Given the description of an element on the screen output the (x, y) to click on. 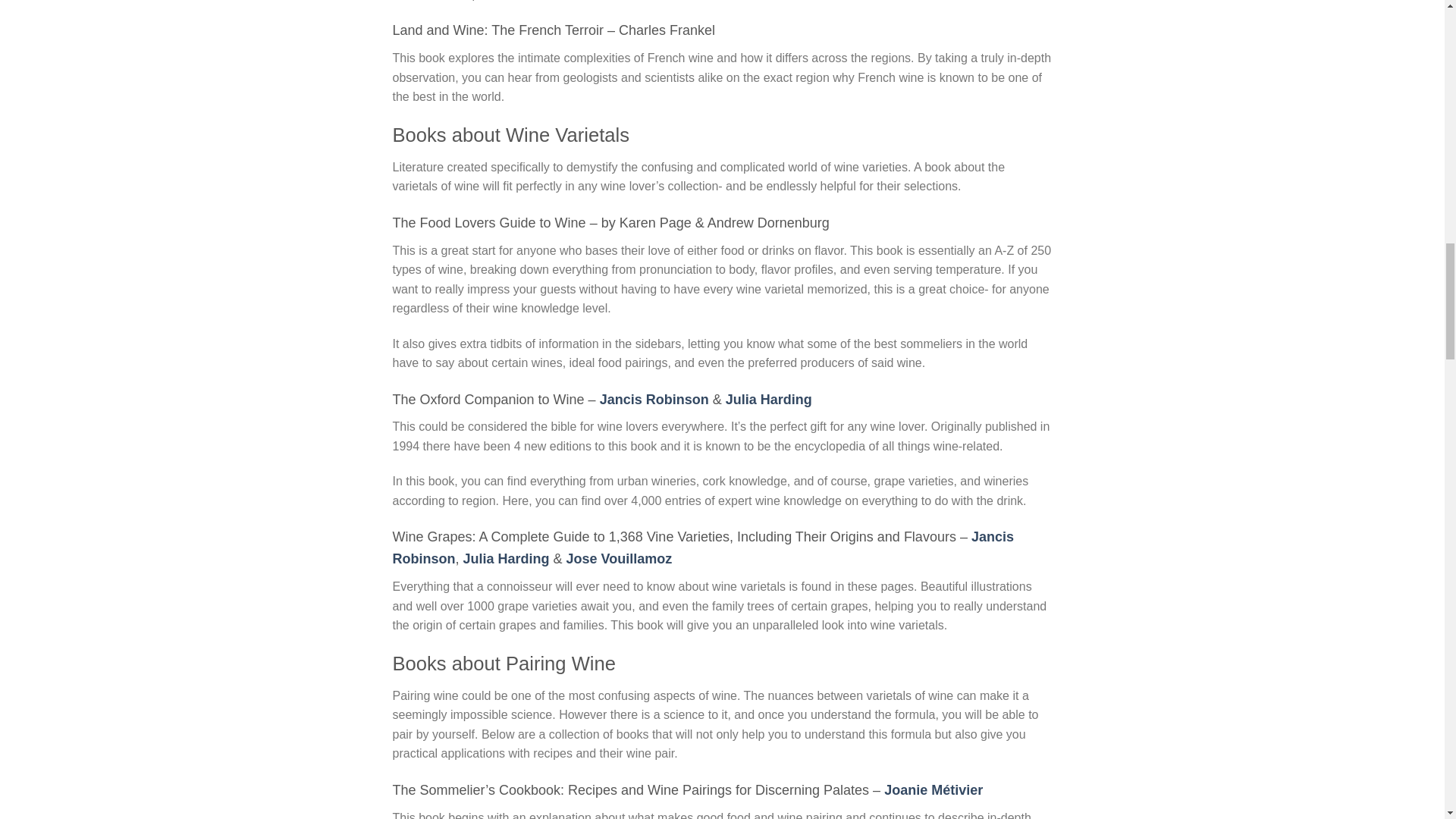
Jancis Robinson (703, 547)
Julia Harding (506, 558)
Jancis Robinson (654, 399)
Julia Harding (768, 399)
Jose Vouillamoz (619, 558)
